Given the description of an element on the screen output the (x, y) to click on. 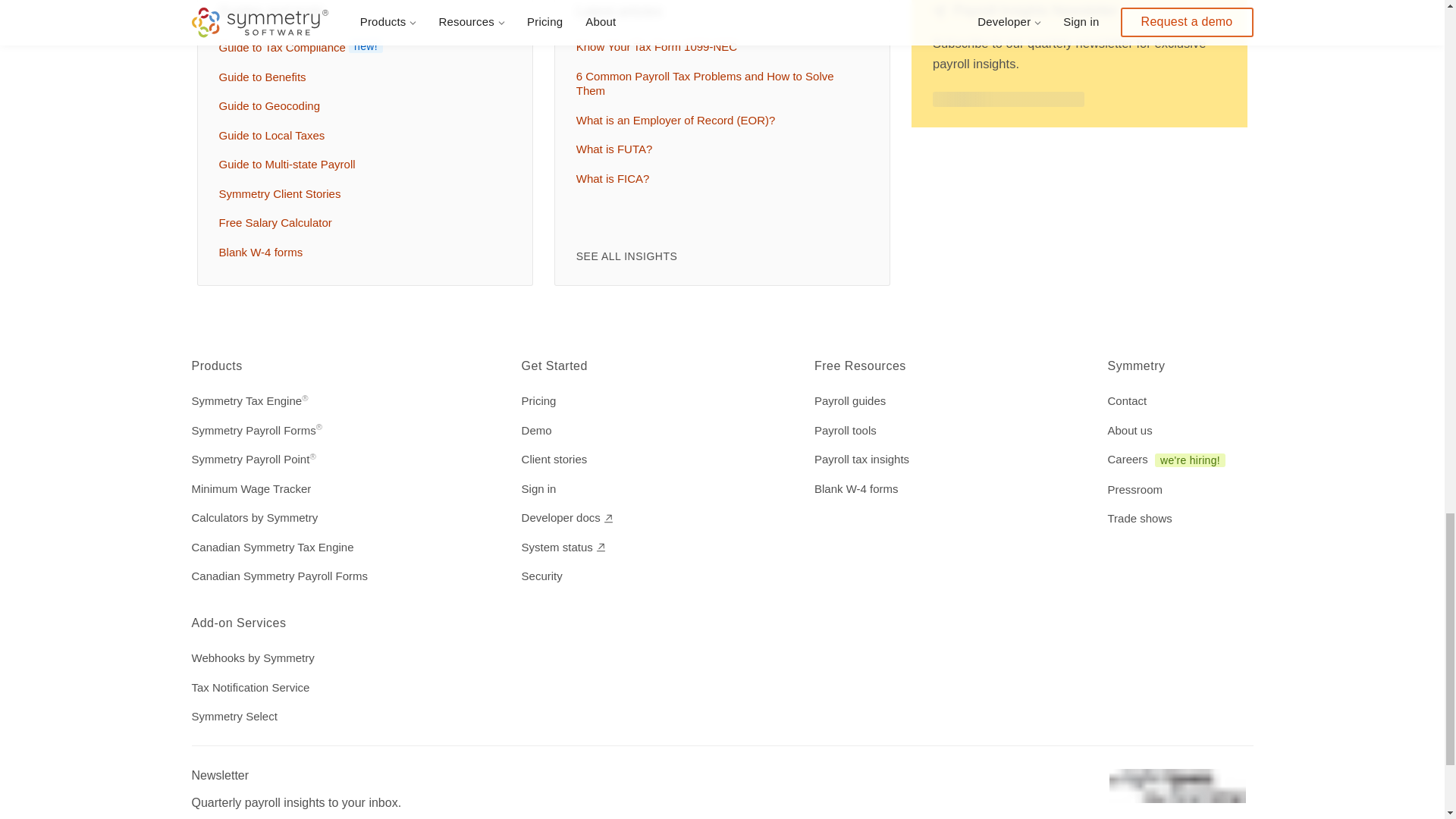
What is FUTA? (718, 149)
Know Your Tax Form 1099-NEC (718, 46)
Symmetry Client Stories (361, 193)
Guide to Geocoding (361, 105)
Blank W-4 forms (361, 252)
6 Common Payroll Tax Problems and How to Solve Them (718, 83)
Guide to Local Taxes (361, 135)
Free Salary Calculator (361, 222)
Guide to Tax Compliance new! (361, 47)
Guide to Multi-state Payroll (361, 164)
